Given the description of an element on the screen output the (x, y) to click on. 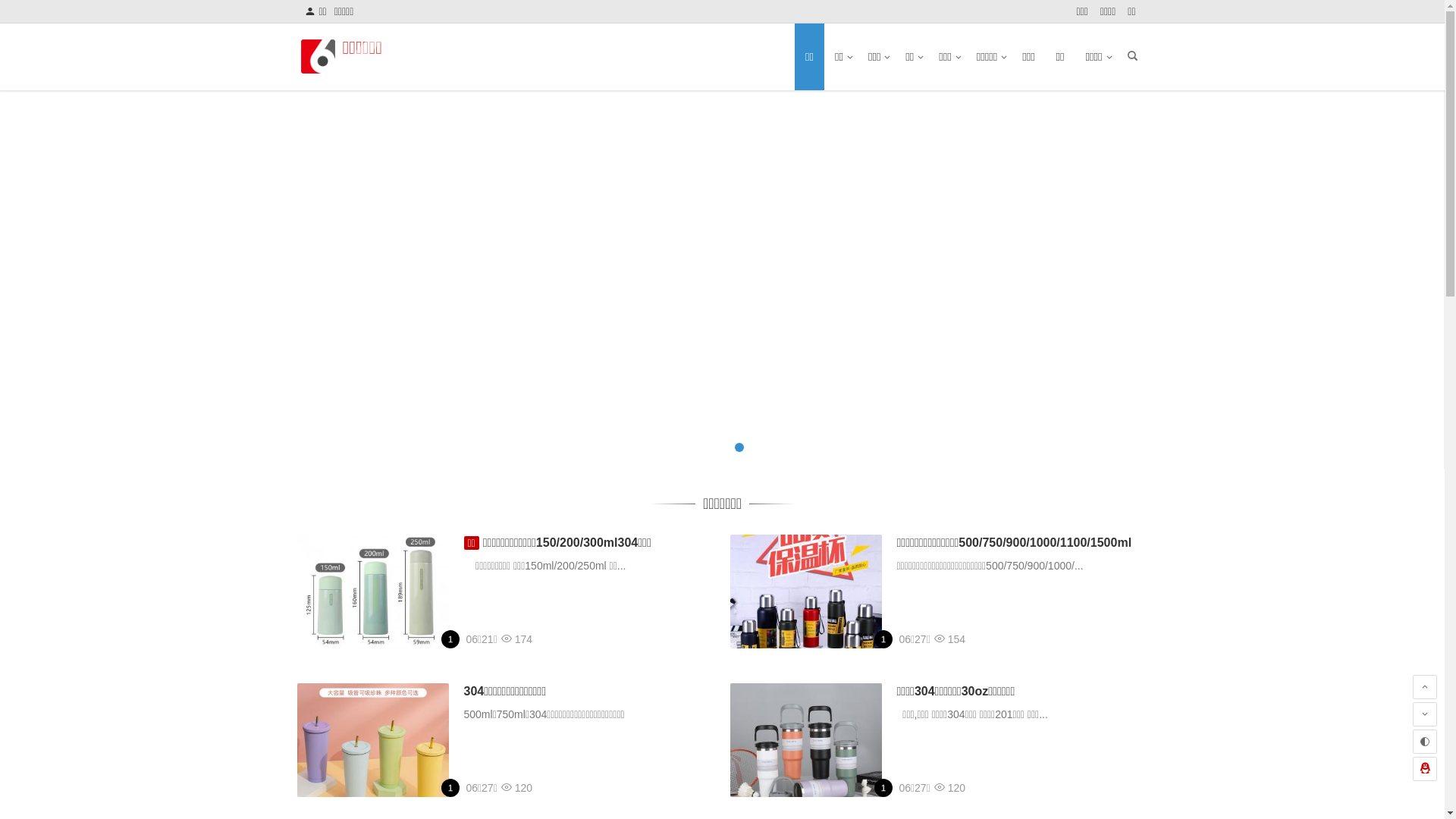
1688cup Element type: hover (453, 639)
1688cup Element type: hover (885, 787)
1688cup Element type: hover (885, 639)
1688cup Element type: hover (453, 787)
